Given the description of an element on the screen output the (x, y) to click on. 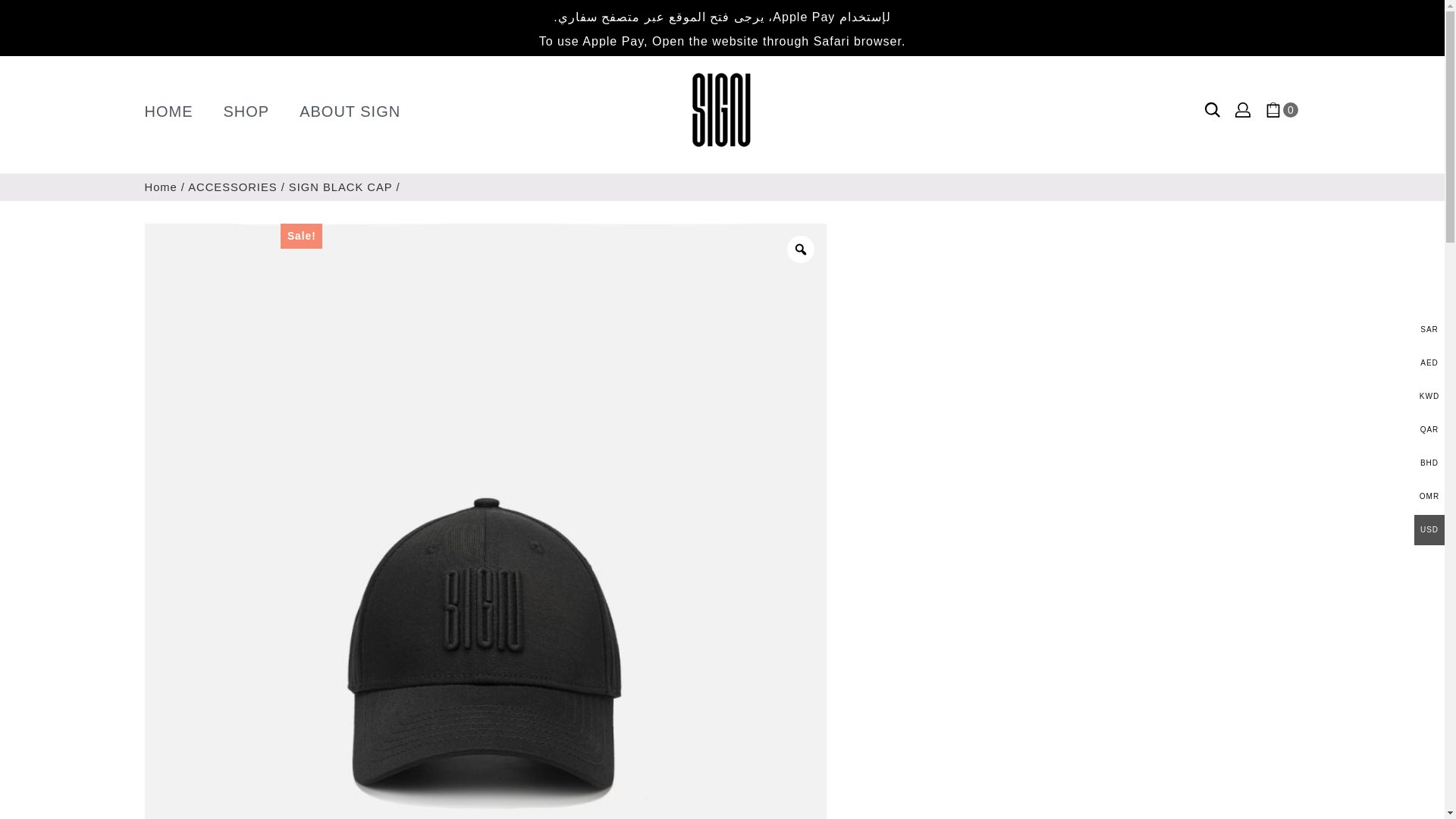
ABOUT SIGN (349, 111)
User (1242, 109)
HOME (168, 111)
SHOP (245, 111)
0 (1273, 113)
ACCESSORIES (231, 186)
Home (160, 186)
User (1242, 113)
